Given the description of an element on the screen output the (x, y) to click on. 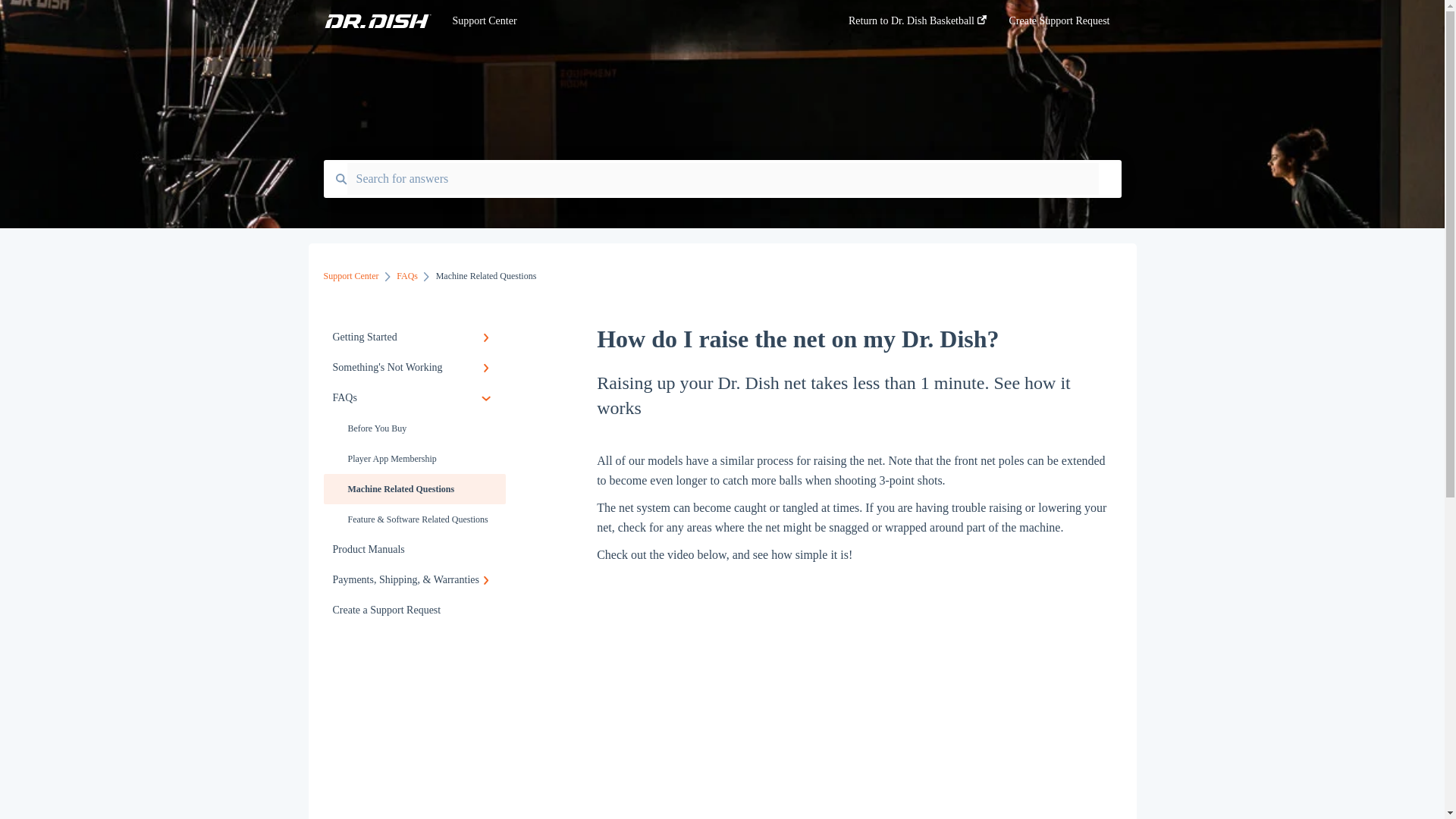
YouTube video player (855, 691)
Support Center (350, 276)
Return to Dr. Dish Basketball (917, 25)
Support Center (627, 21)
Product Manuals (414, 549)
Something's Not Working (414, 367)
FAQs (414, 398)
Player App Membership (414, 458)
Create Support Request (1059, 25)
Before You Buy (414, 428)
